Given the description of an element on the screen output the (x, y) to click on. 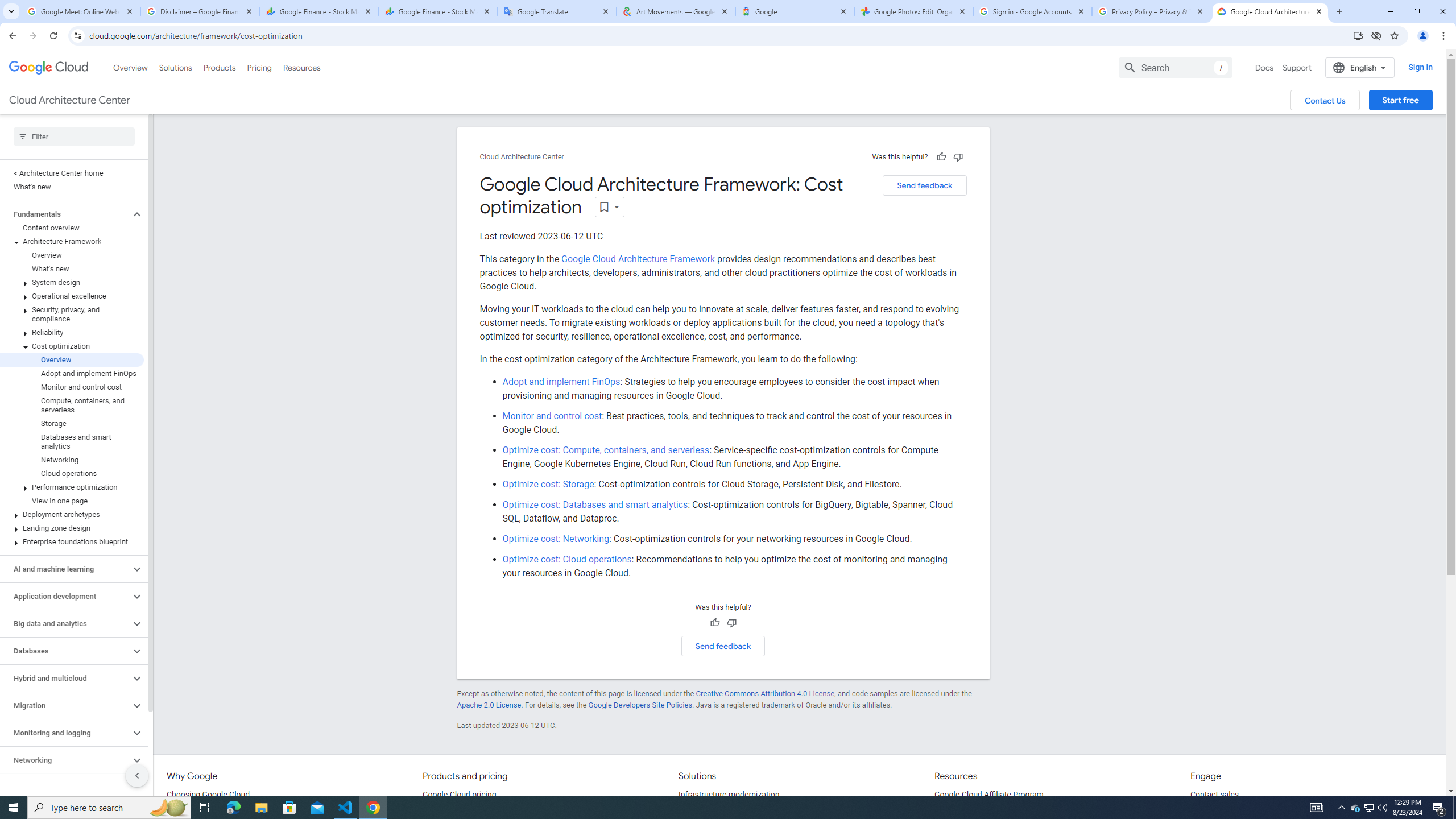
Databases and smart analytics (72, 441)
Resources (301, 67)
Deployment archetypes (72, 514)
Google Cloud pricing (459, 795)
Landing zone design (72, 527)
Networking (72, 459)
System design (72, 282)
Optimize cost: Databases and smart analytics (595, 504)
Google Cloud Affiliate Program (988, 795)
Optimize cost: Networking (556, 538)
